Given the description of an element on the screen output the (x, y) to click on. 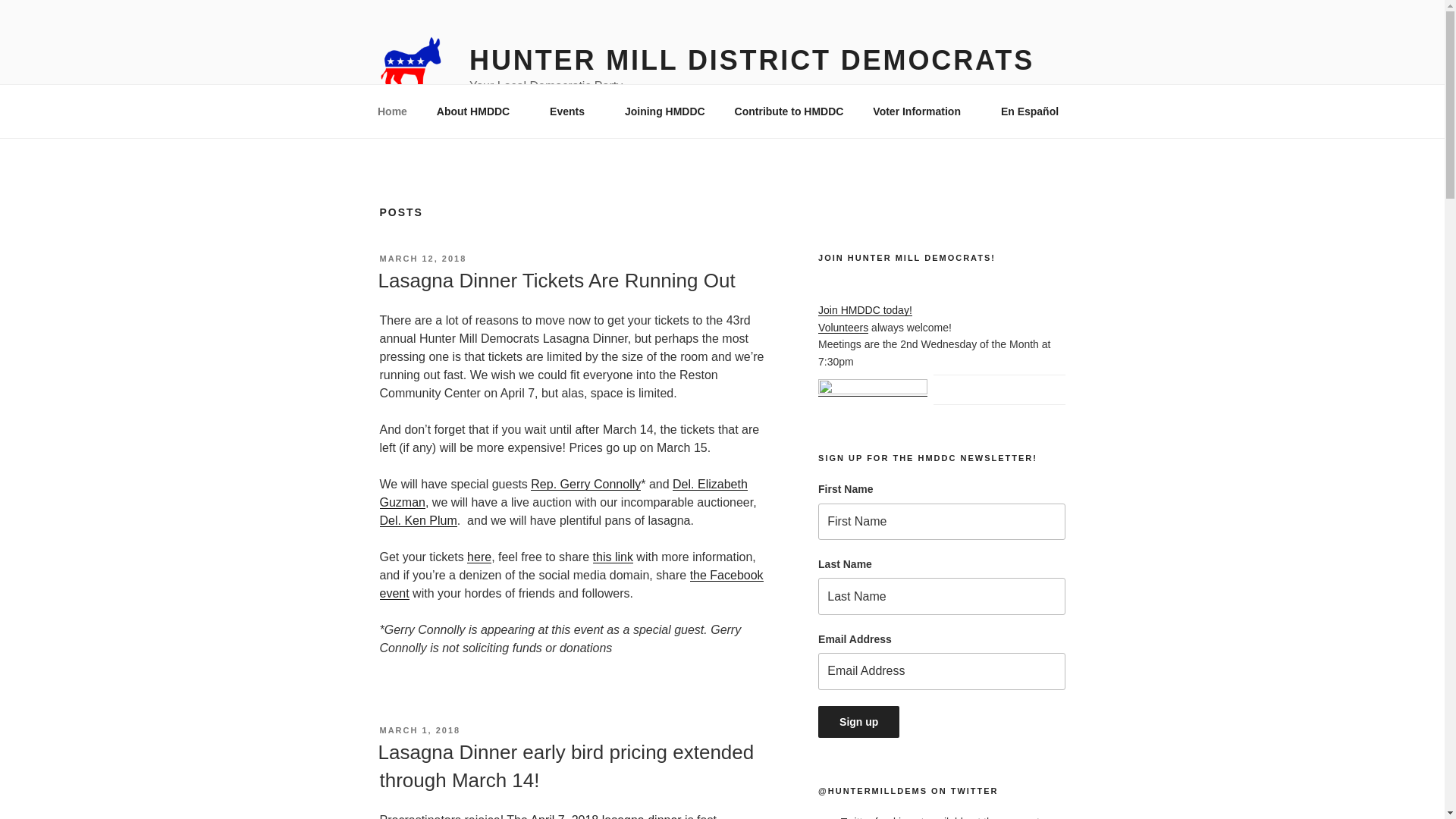
MARCH 1, 2018 (419, 729)
Rep. Gerry Connolly (585, 483)
Contribute to HMDDC (788, 110)
Del. Ken Plum (417, 520)
Del. Elizabeth Guzman (562, 492)
here (479, 556)
the Facebook event (570, 583)
Sign up (858, 721)
this link (612, 556)
Voter Information (922, 110)
